Given the description of an element on the screen output the (x, y) to click on. 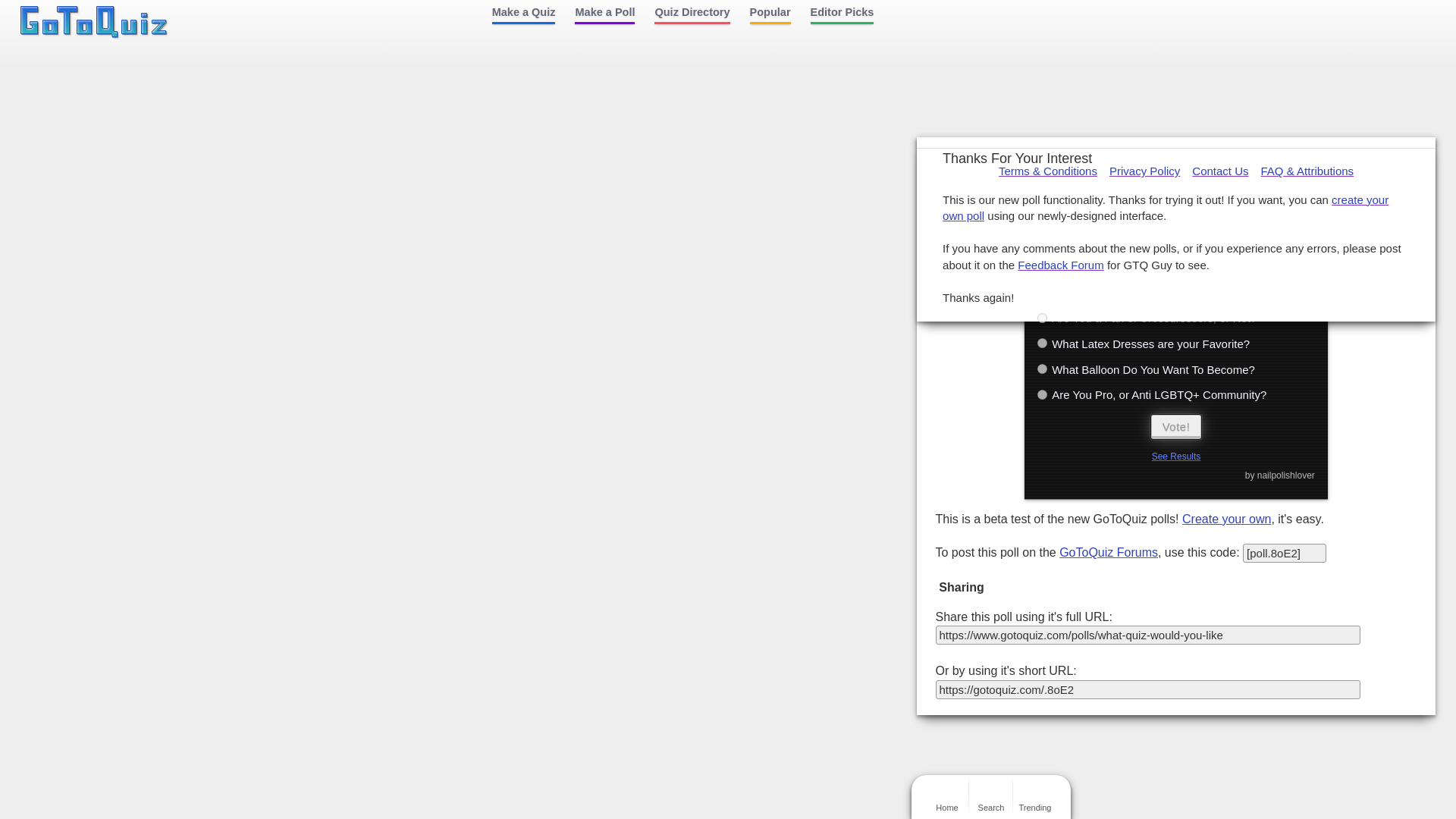
GoToQuiz Forums (1108, 552)
Feedback Forum (1060, 264)
Vote! (1176, 426)
Quiz Directory (692, 15)
create your own poll (1165, 206)
Home (946, 796)
Privacy Policy (1144, 170)
Editor Picks (841, 15)
Make a Quiz (523, 15)
Home (94, 22)
Search (991, 796)
Trending (1035, 796)
Popular (769, 15)
See Results (1176, 456)
Create your own (1226, 518)
